Given the description of an element on the screen output the (x, y) to click on. 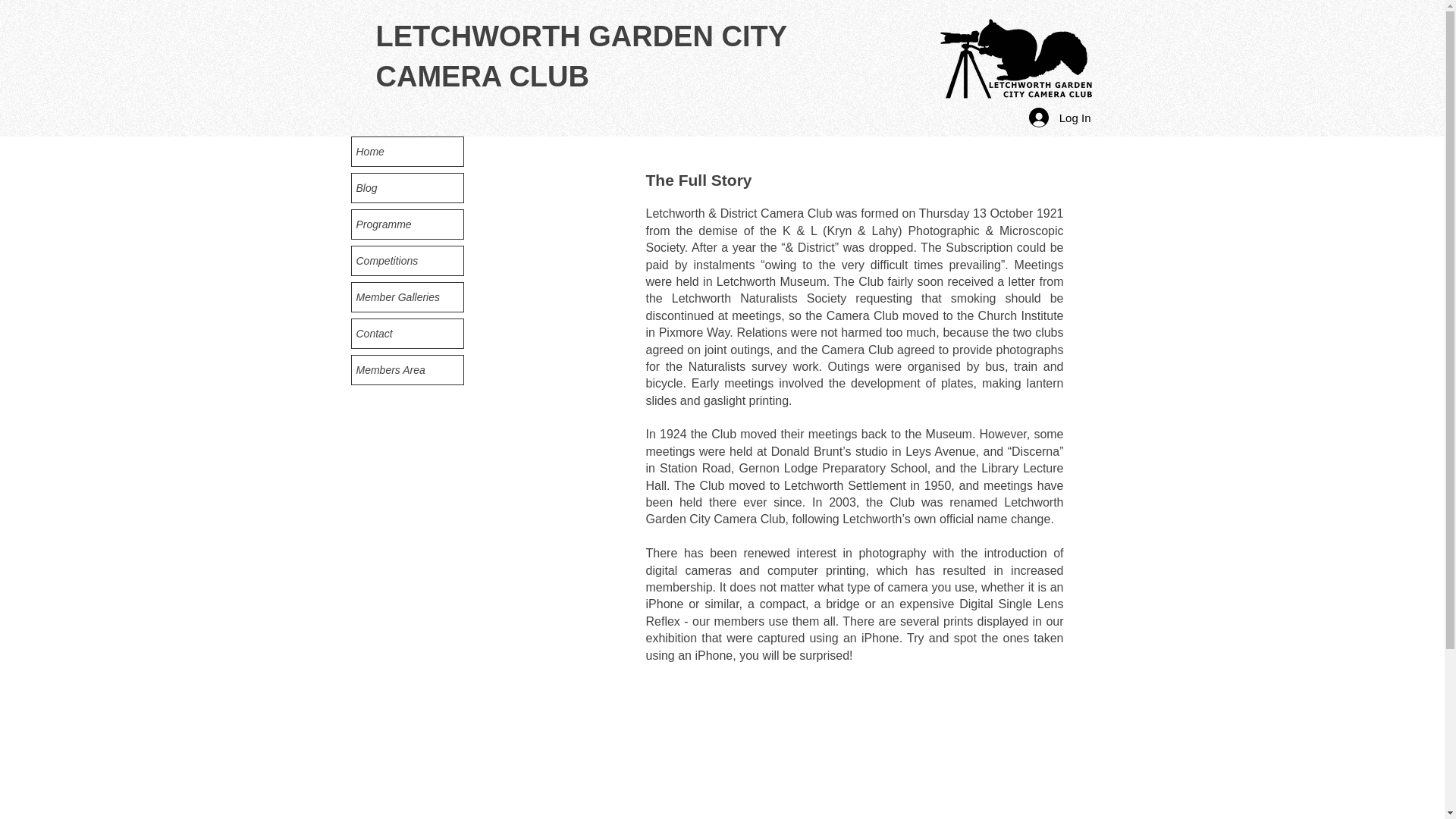
Home (407, 151)
Programme (407, 224)
Blog (407, 187)
Members Area (407, 369)
LETCHWORTH GARDEN CITY CAMERA CLUB  (581, 56)
Competitions (407, 260)
Log In (1059, 117)
Contact (407, 333)
Member Galleries (407, 297)
